Given the description of an element on the screen output the (x, y) to click on. 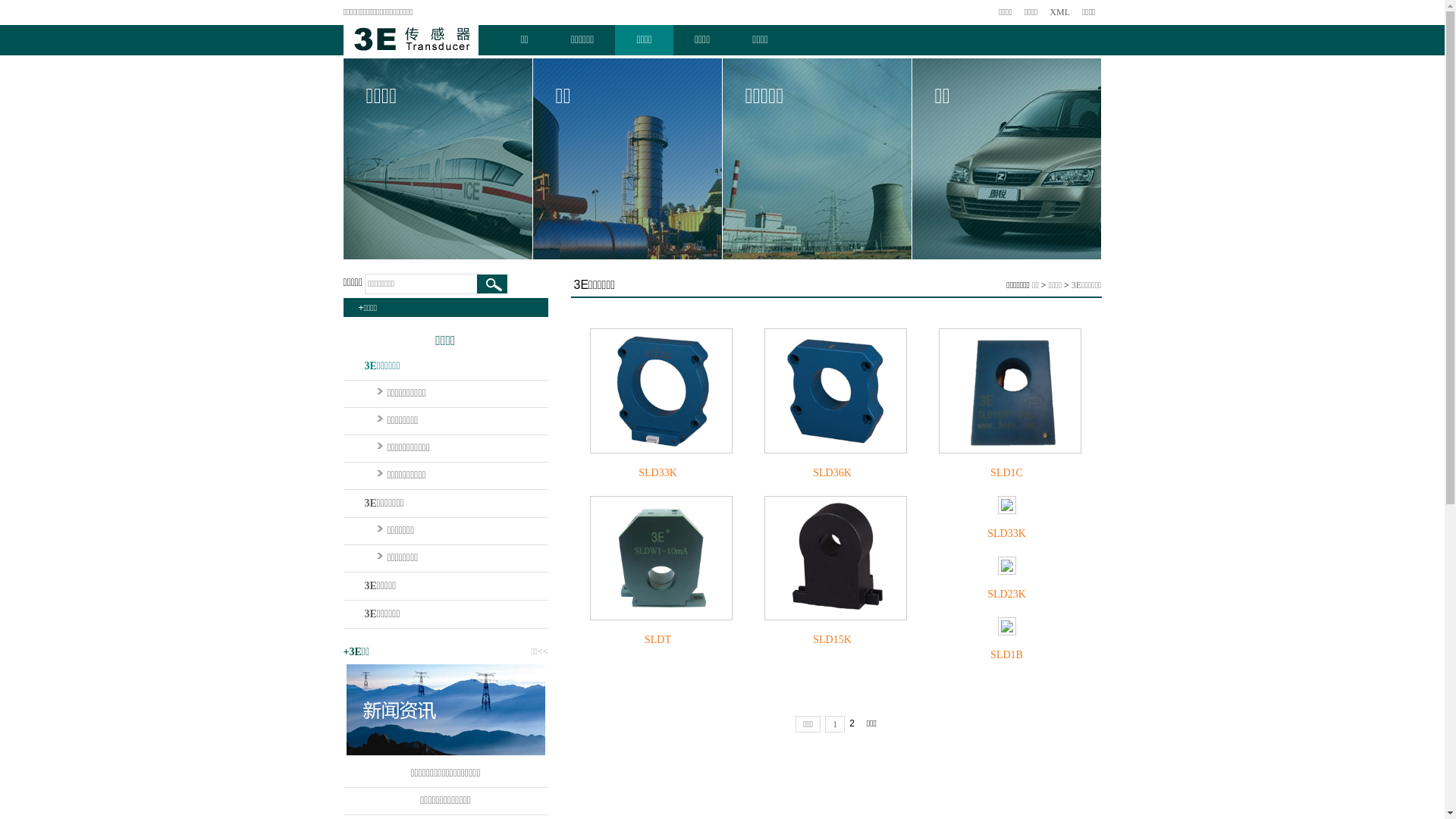
SLD15K Element type: text (831, 639)
SLD23K Element type: hover (1006, 567)
1 Element type: text (834, 723)
SLD1B Element type: hover (1006, 628)
SLD1B Element type: text (1006, 654)
SLD33K Element type: text (1006, 533)
SLD15K Element type: hover (832, 560)
XML Element type: text (1059, 11)
SLD33K Element type: text (657, 472)
SLD36K Element type: text (831, 472)
SLD1C Element type: hover (1006, 393)
SLD36K Element type: hover (832, 393)
SLD1C Element type: text (1006, 472)
SLD33K Element type: hover (1006, 506)
SLDT Element type: text (657, 639)
SLD23K Element type: text (1006, 593)
SLDT Element type: hover (657, 560)
SLD33K Element type: hover (657, 393)
